Given the description of an element on the screen output the (x, y) to click on. 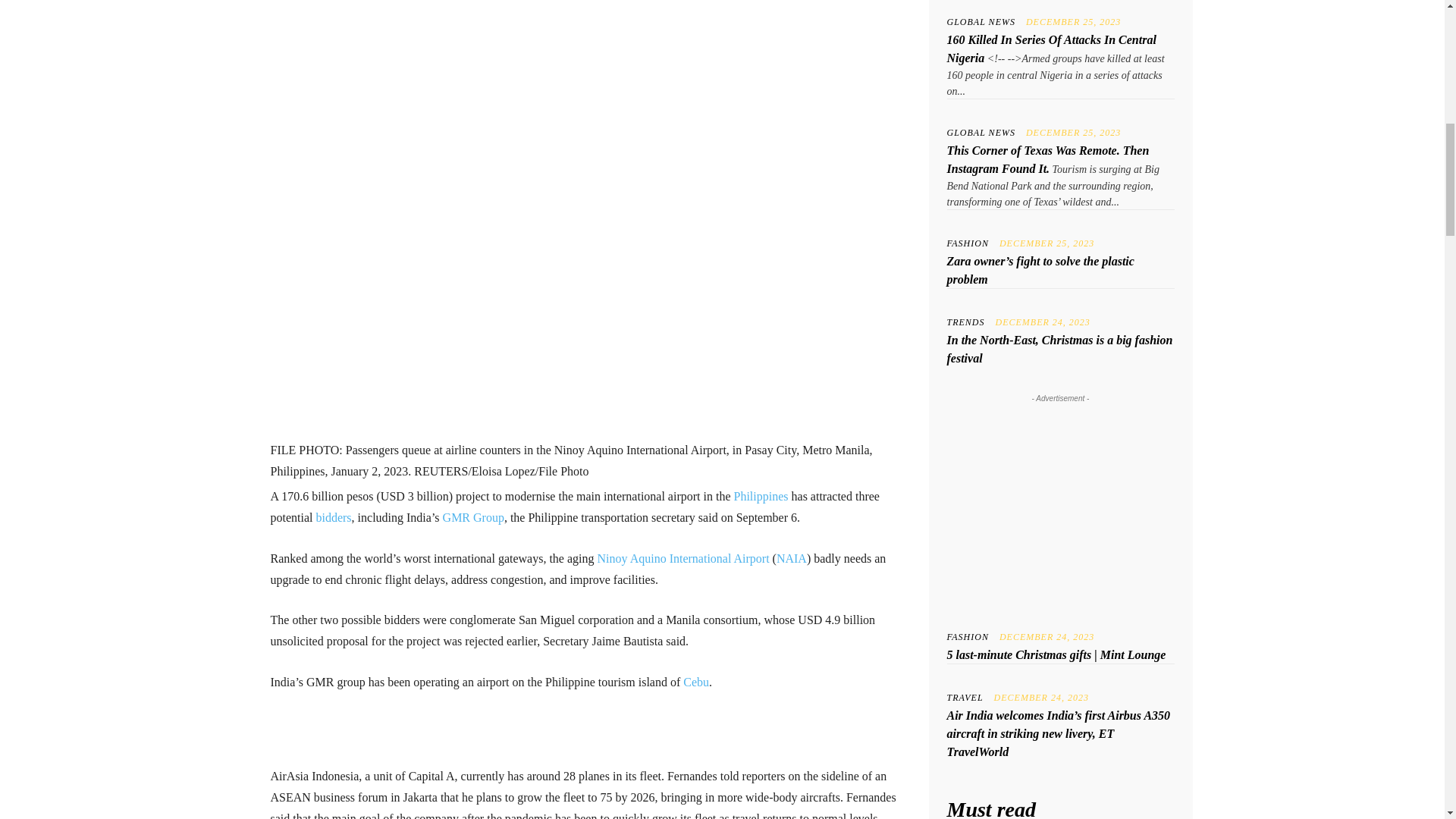
Ninoy Aquino International Airport (683, 558)
Philippines (761, 495)
GMR Group (472, 517)
NAIA (791, 558)
bidders (332, 517)
